Given the description of an element on the screen output the (x, y) to click on. 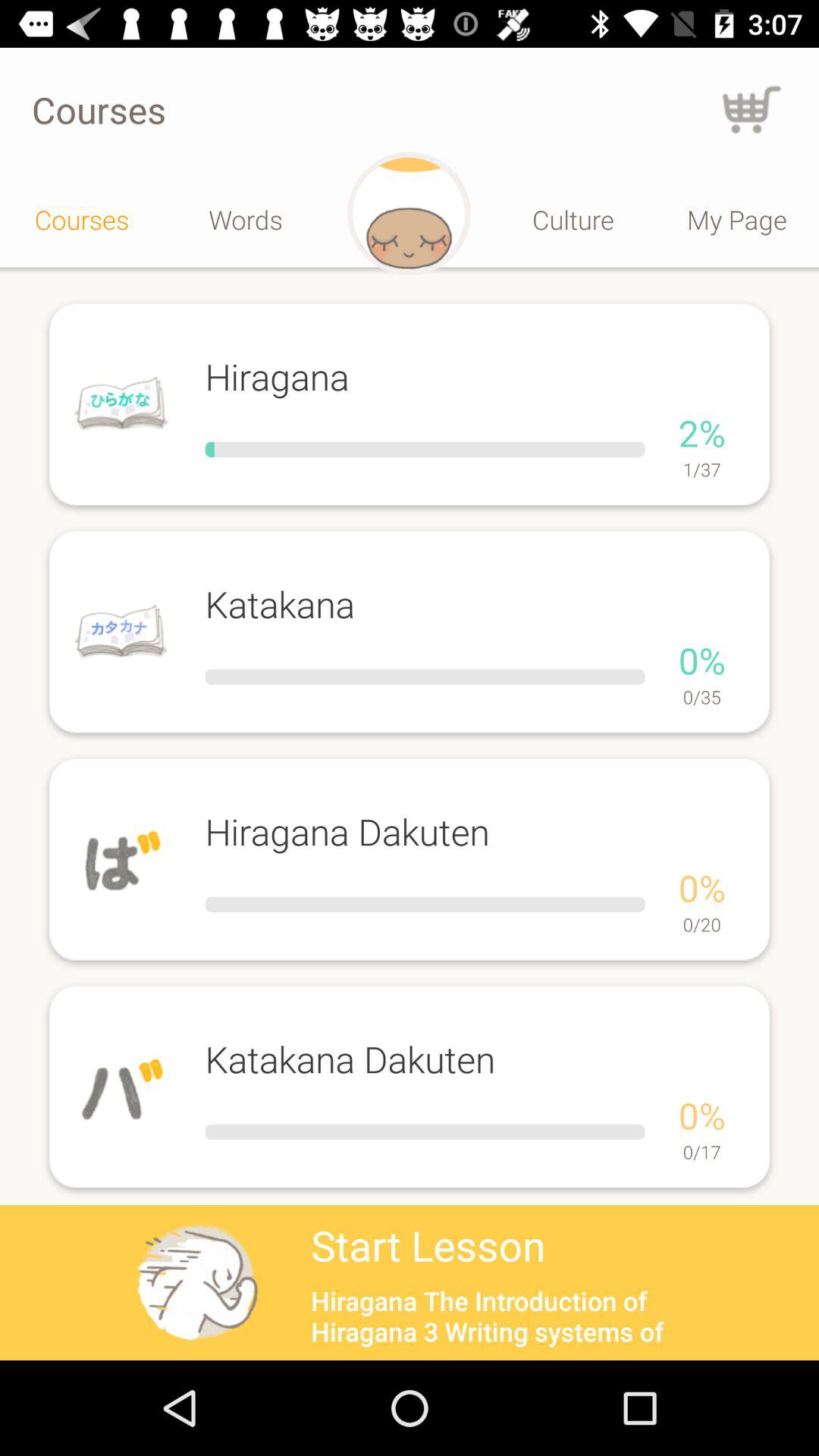
select the image which is at the bottom of the page (197, 1282)
